Given the description of an element on the screen output the (x, y) to click on. 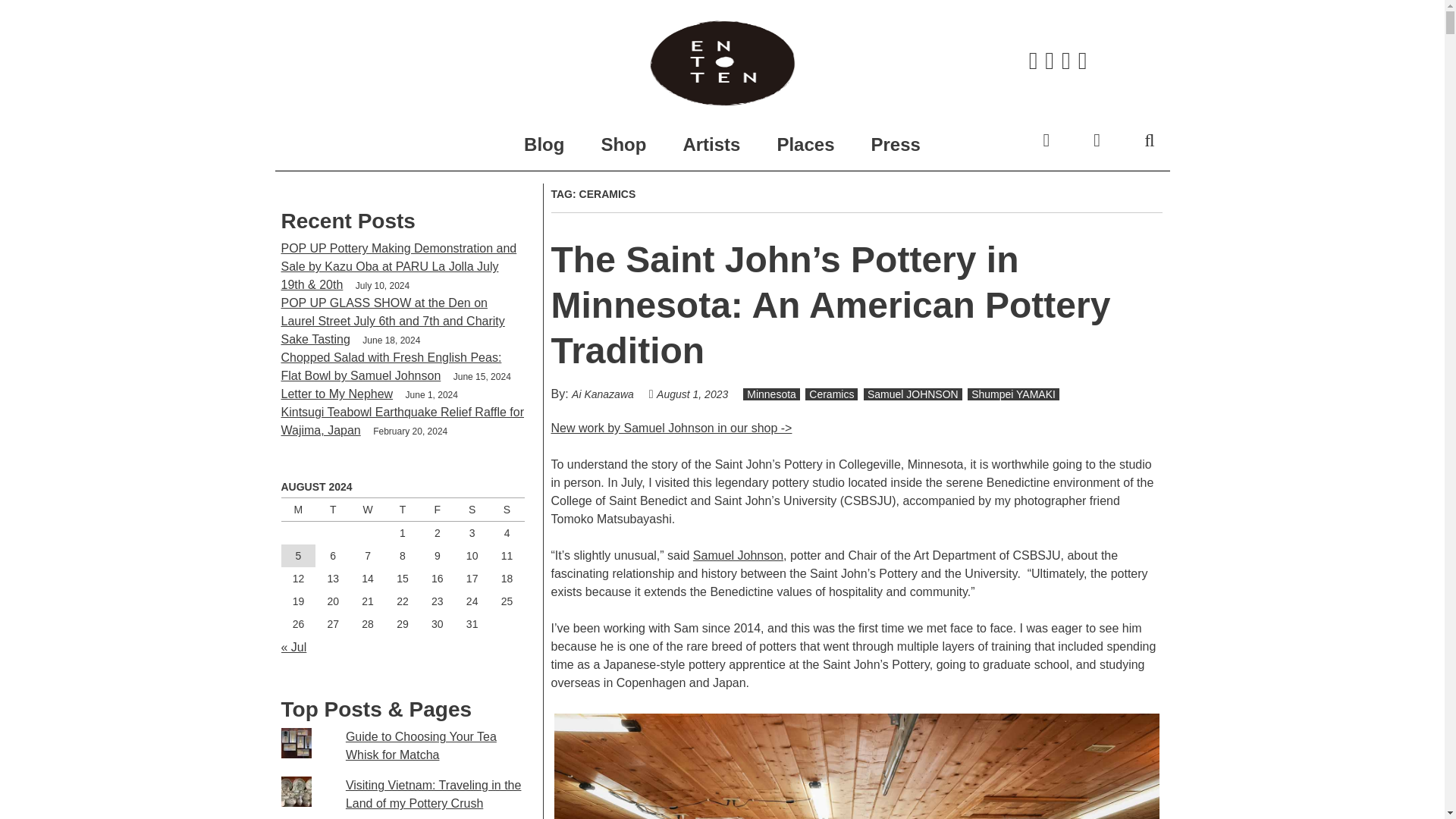
Wednesday (367, 509)
Press (895, 144)
Sunday (506, 509)
Kintsugi Teabowl Earthquake Relief Raffle for Wajima, Japan (401, 420)
Tuesday (332, 509)
Visiting Vietnam: Traveling in the Land of my Pottery Crush (433, 793)
Blog (544, 144)
Places (805, 144)
Monday (298, 509)
Artists (710, 144)
Shop (622, 144)
Letter to My Nephew (337, 393)
Guide to Choosing Your Tea Whisk for Matcha (421, 745)
Thursday (402, 509)
